Given the description of an element on the screen output the (x, y) to click on. 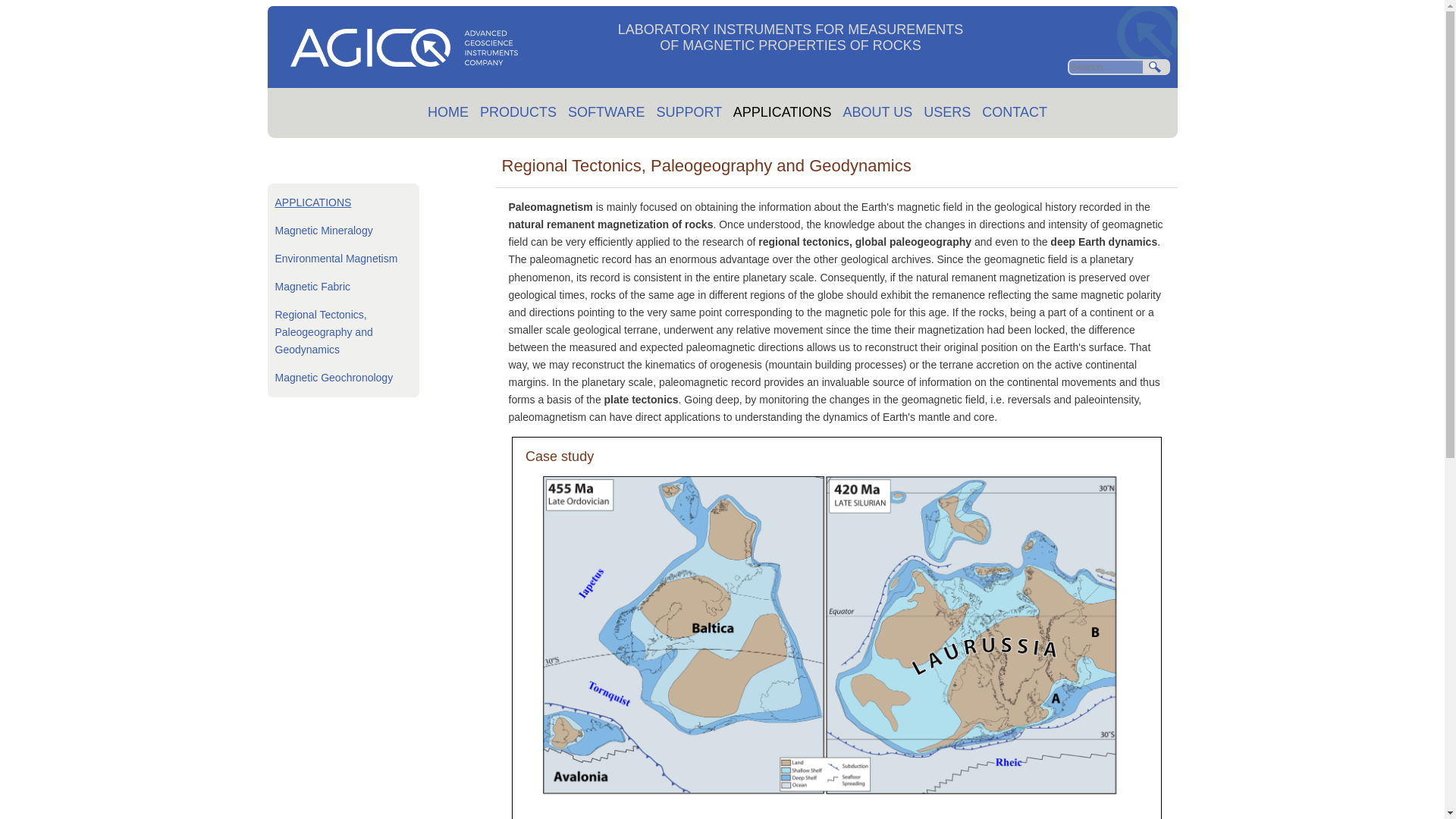
HOME (448, 111)
Regional Tectonics, Paleogeography and Geodynamics (323, 331)
home (403, 81)
agilogo (403, 47)
Magnetic Mineralogy (323, 230)
Environmental Magnetism (336, 258)
APPLICATIONS (312, 202)
Magnetic Fabric (312, 286)
PRODUCTS (518, 111)
SUPPORT (688, 111)
Magnetic Geochronology (334, 377)
APPLICATIONS (782, 111)
SOFTWARE (606, 111)
